Given the description of an element on the screen output the (x, y) to click on. 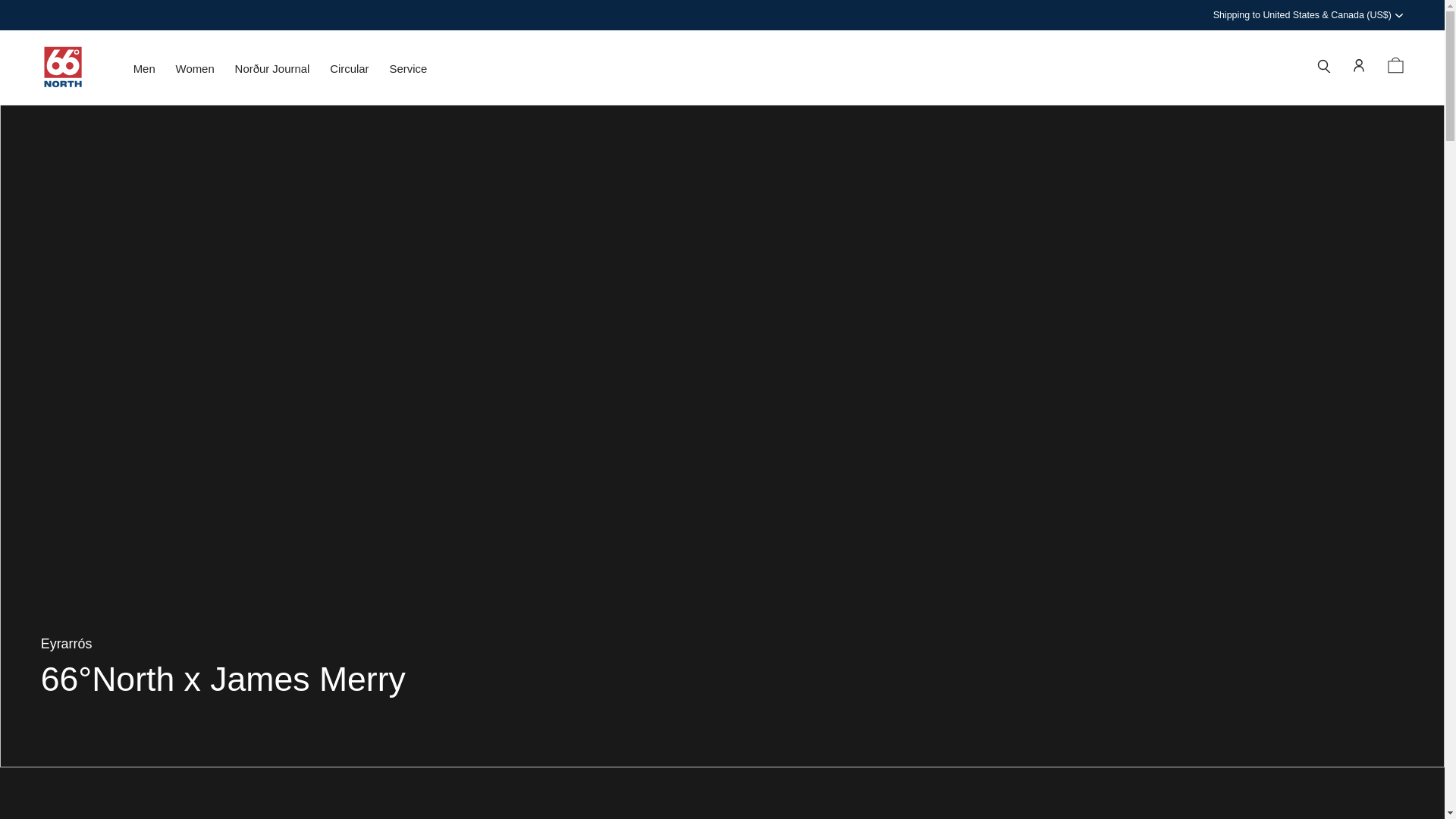
Service (407, 72)
Men (144, 72)
Women (195, 72)
Circular (349, 72)
